Given the description of an element on the screen output the (x, y) to click on. 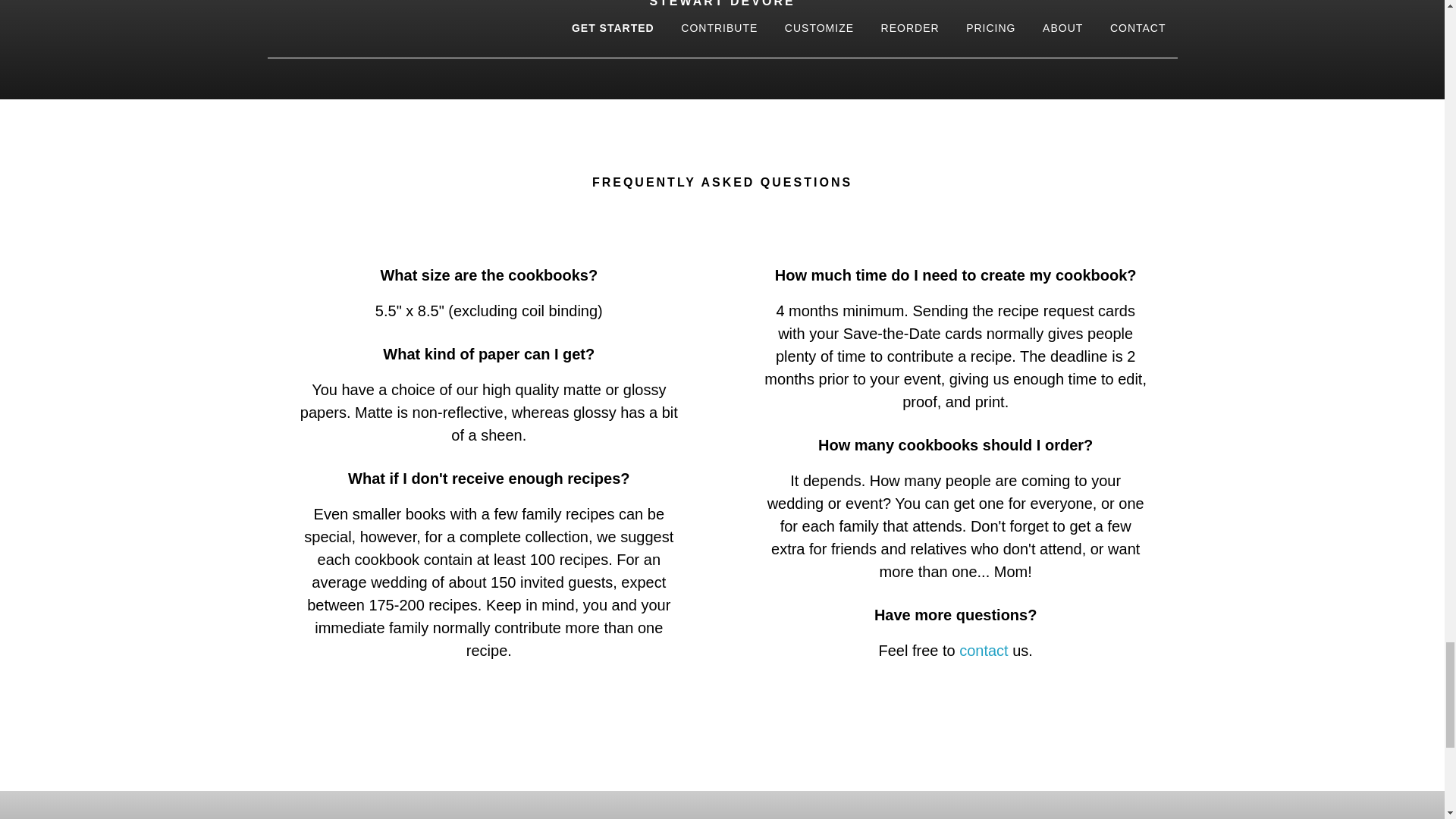
contact (983, 650)
